Given the description of an element on the screen output the (x, y) to click on. 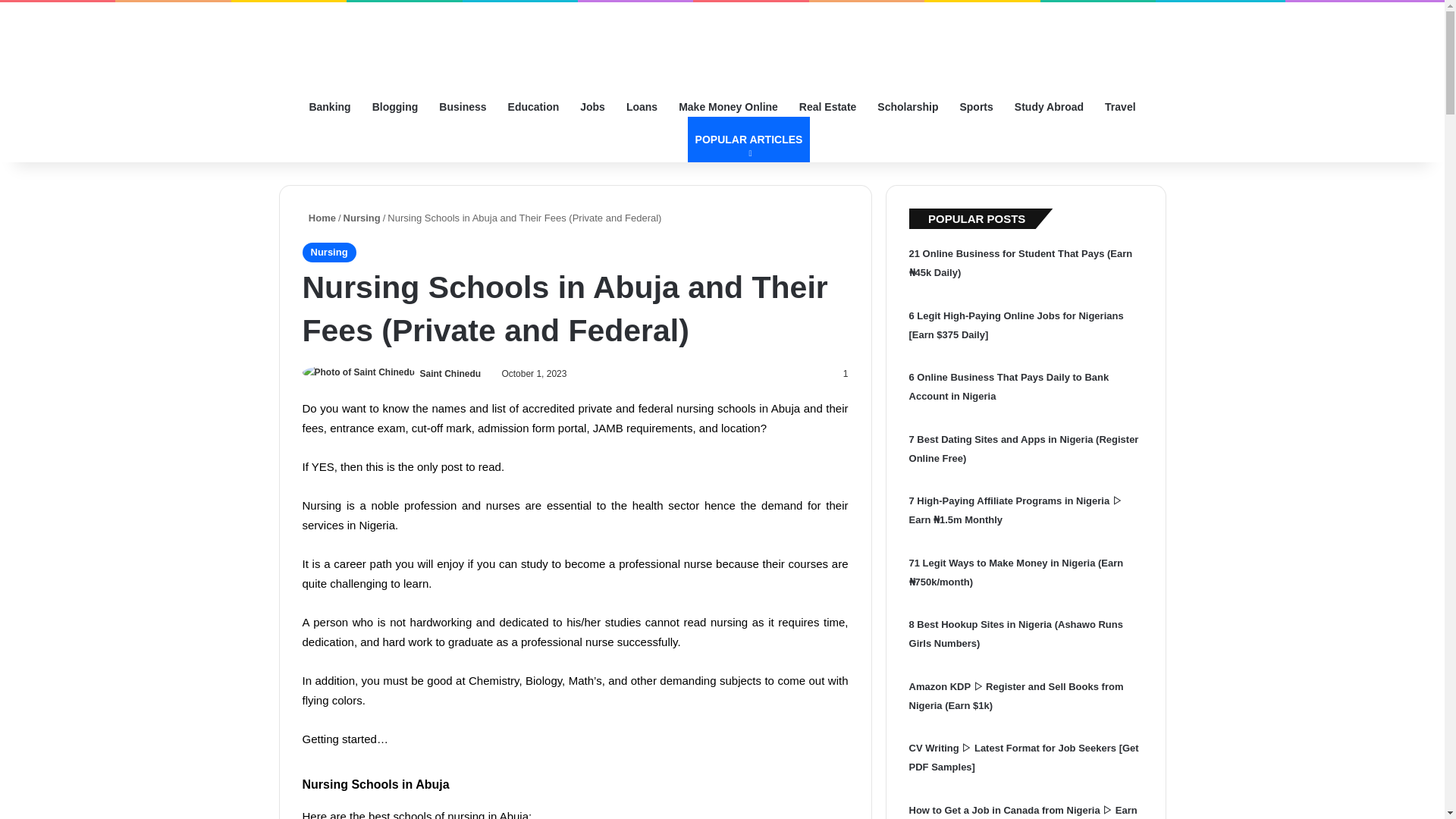
Saint Chinedu (450, 373)
Sports (748, 139)
Blogging (976, 107)
Business (395, 107)
Search for (462, 107)
Loans (668, 139)
Real Estate (641, 107)
Nursing (827, 107)
Nursing (361, 217)
